Given the description of an element on the screen output the (x, y) to click on. 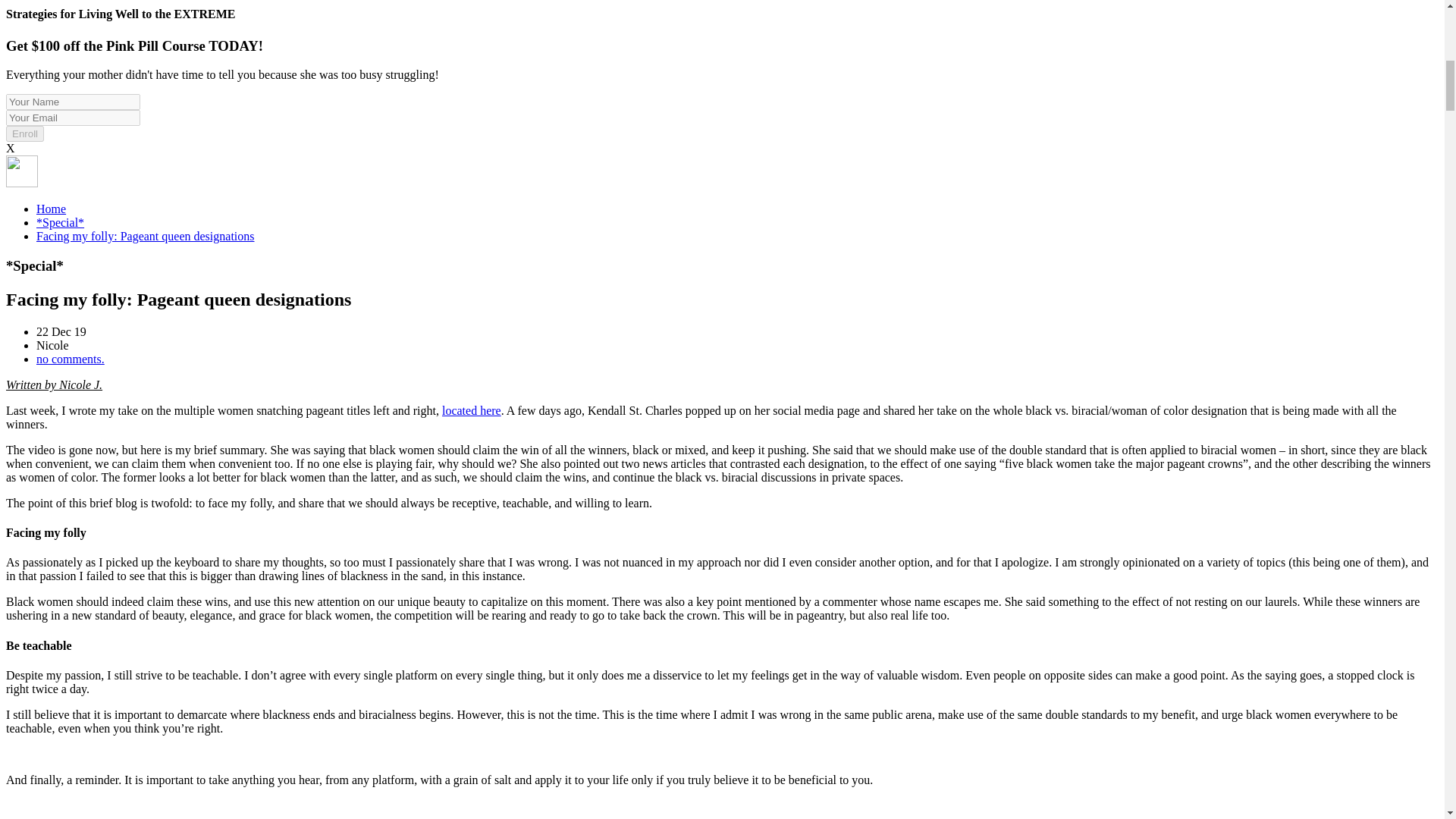
Enroll (24, 133)
Go to Facing my folly: Pageant queen designations. (145, 236)
